Given the description of an element on the screen output the (x, y) to click on. 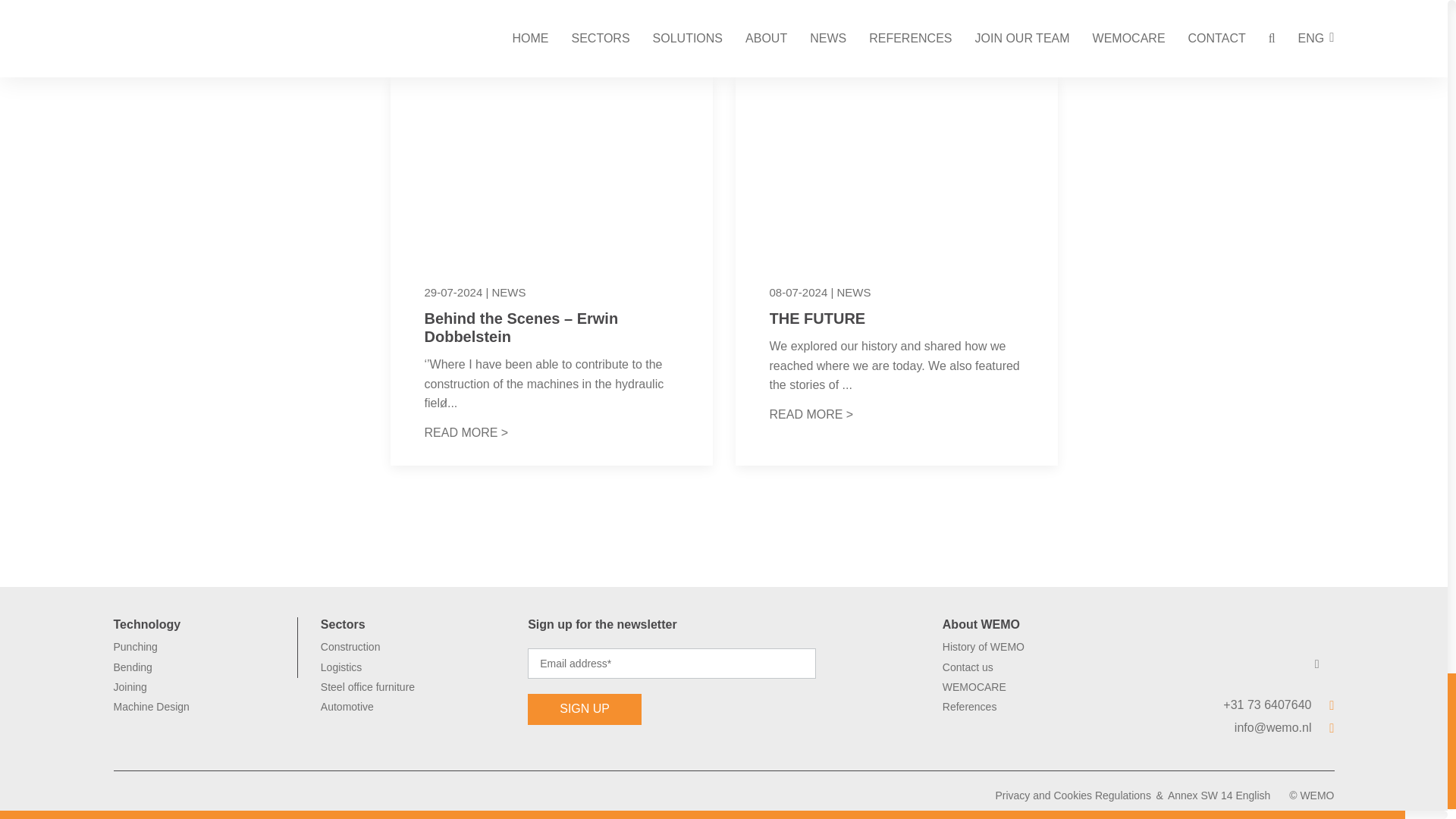
THE FUTURE (816, 318)
Sign up (584, 708)
